Given the description of an element on the screen output the (x, y) to click on. 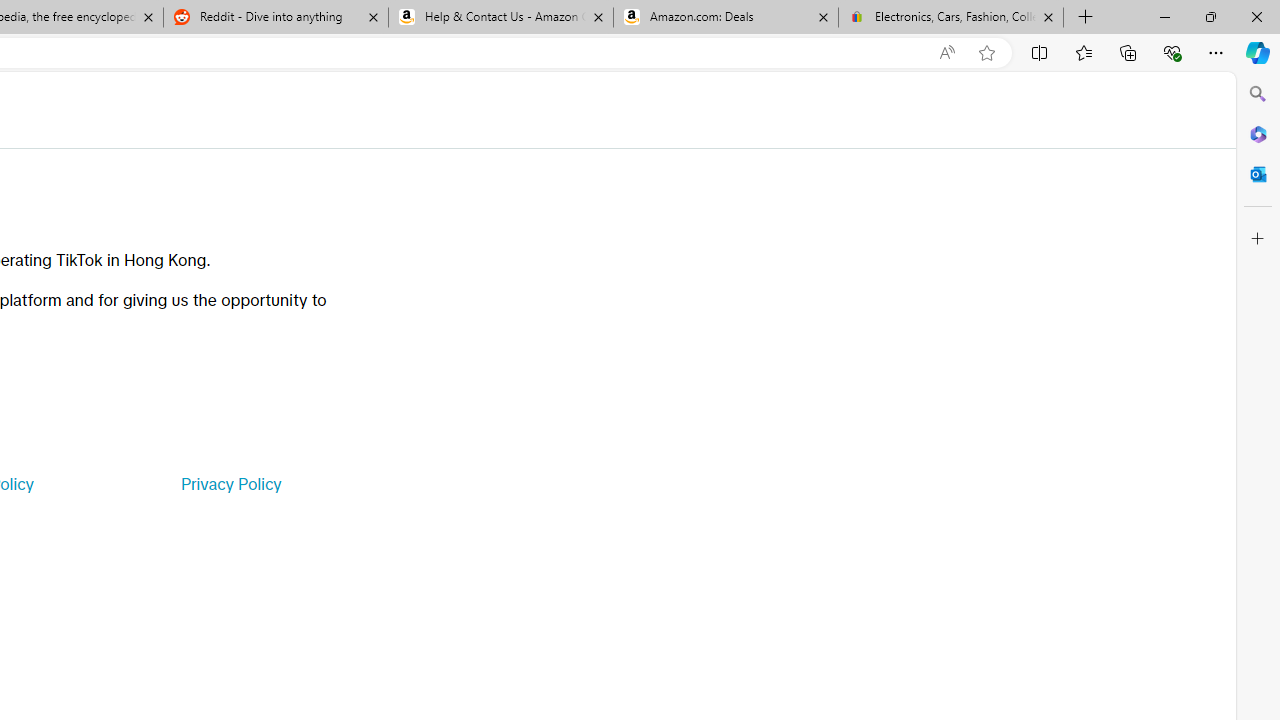
Privacy Policy (230, 484)
Amazon.com: Deals (726, 17)
